Given the description of an element on the screen output the (x, y) to click on. 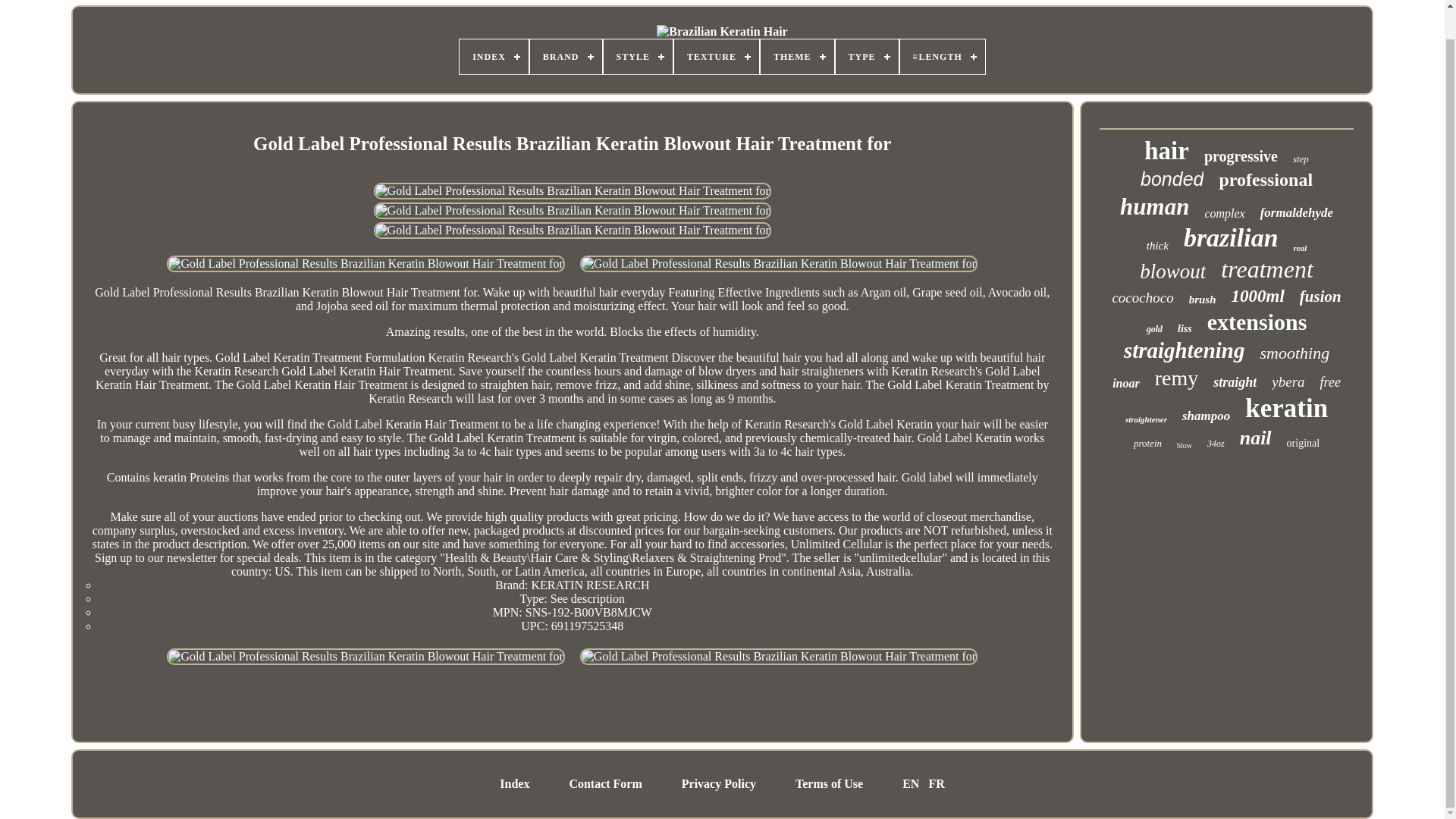
STYLE (638, 56)
INDEX (494, 56)
BRAND (565, 56)
